Given the description of an element on the screen output the (x, y) to click on. 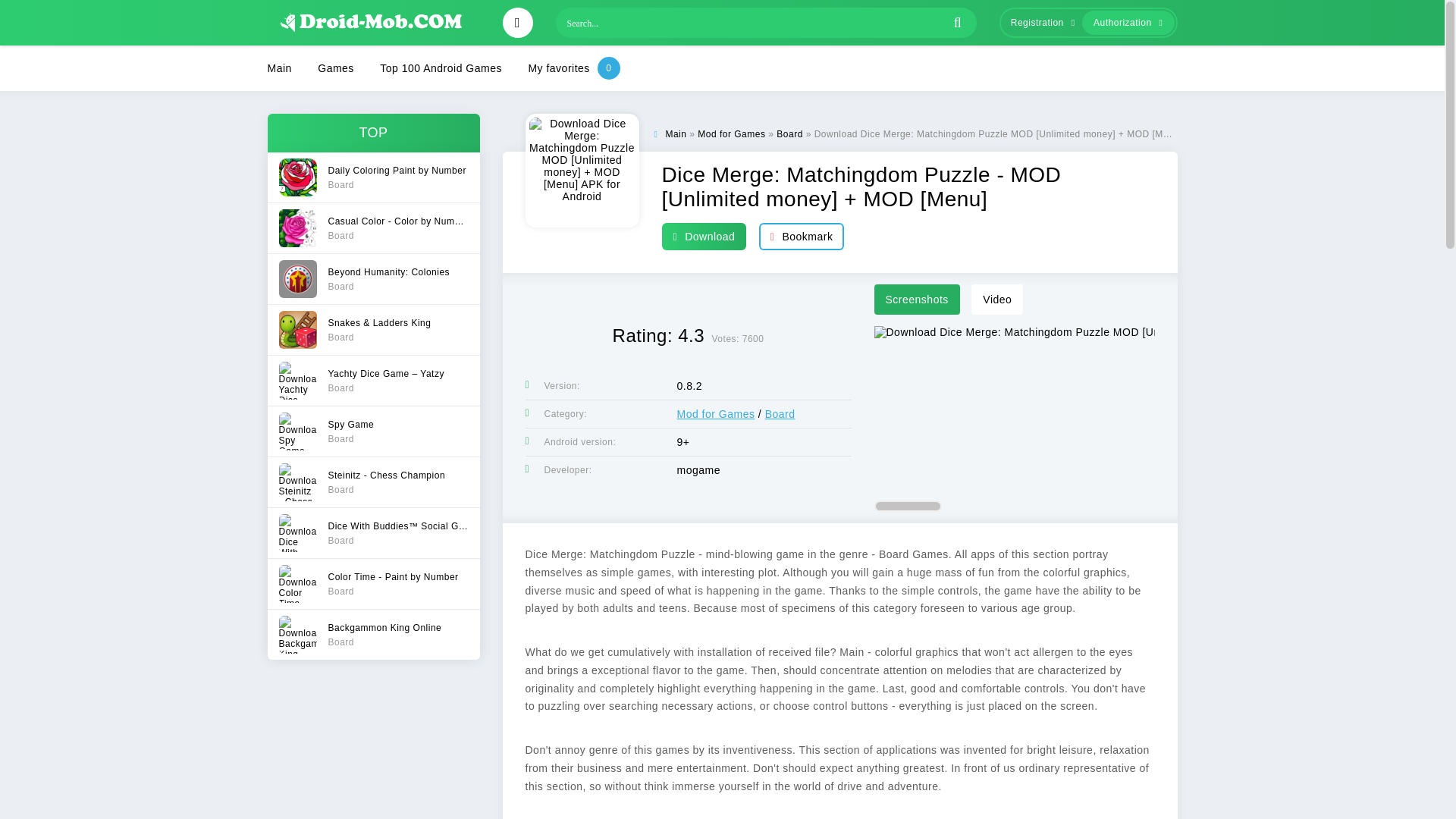
Bookmark (372, 177)
Mod for Games (372, 430)
Registration (801, 236)
Board (715, 413)
Main (372, 583)
Mod for Games (372, 278)
